Given the description of an element on the screen output the (x, y) to click on. 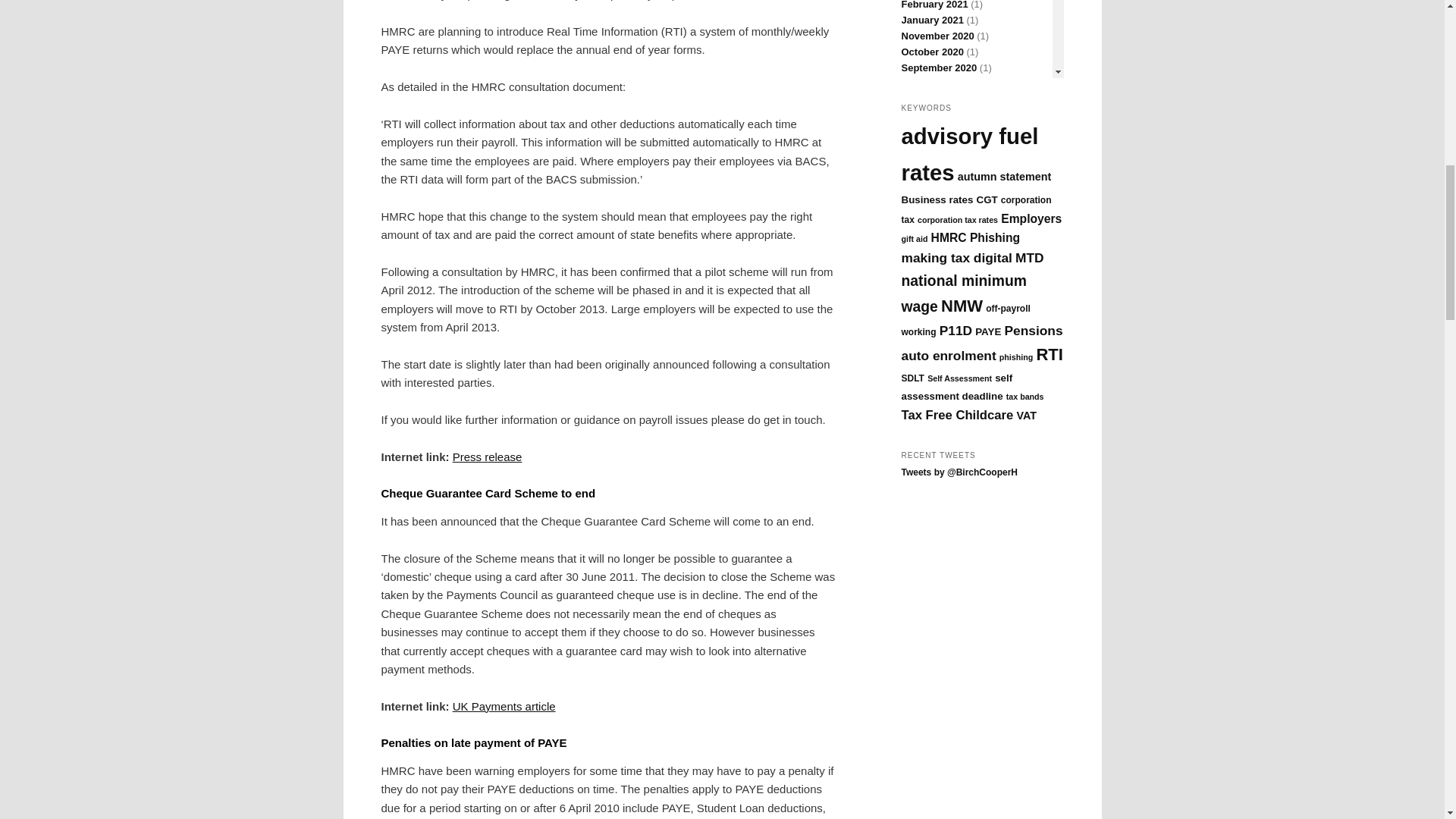
Press release (487, 456)
UK Payments article (504, 706)
